Given the description of an element on the screen output the (x, y) to click on. 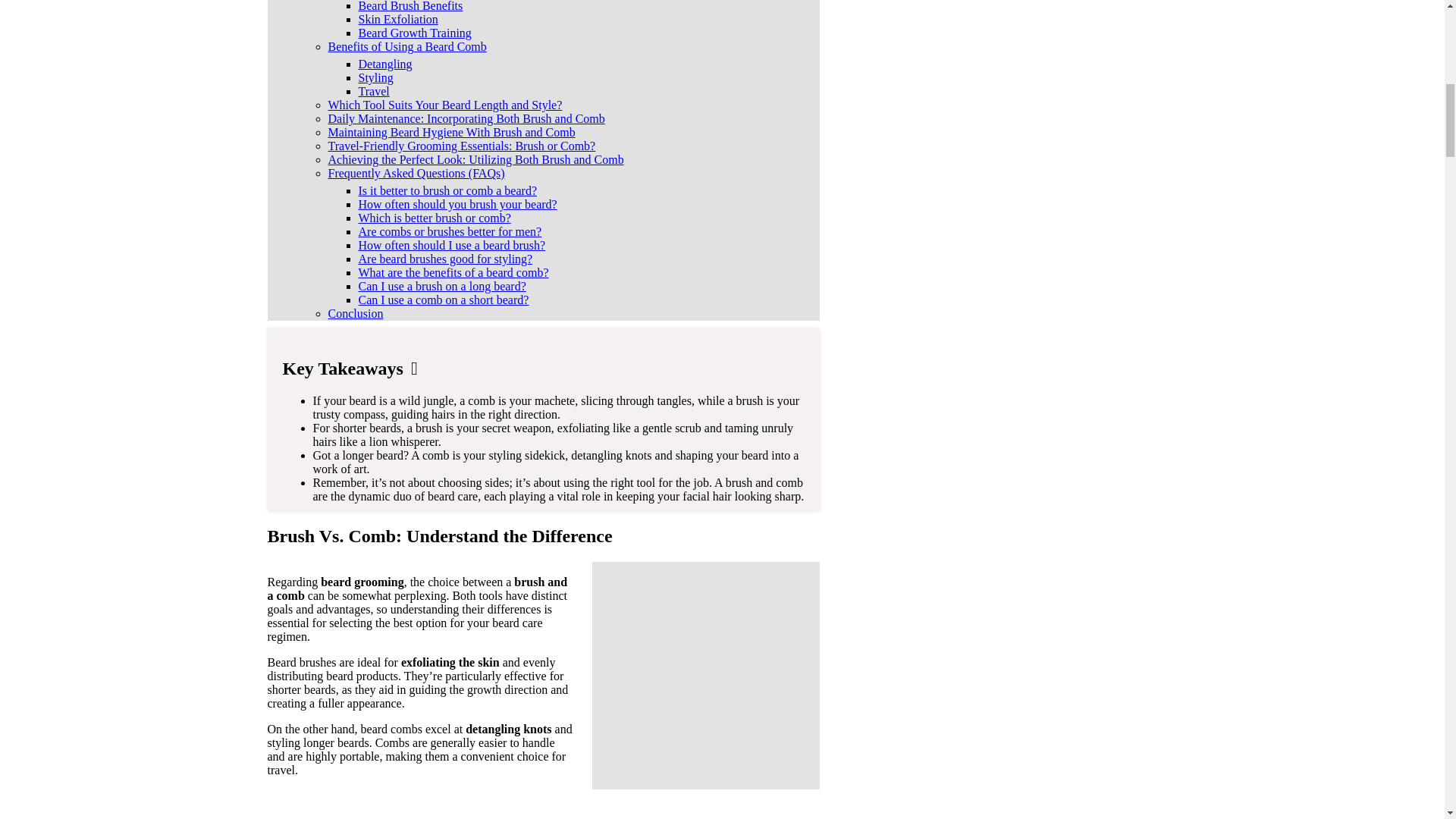
Skin Exfoliation (398, 19)
Beard Brush Benefits (410, 6)
Styling (375, 77)
Detangling (385, 63)
Benefits of Using a Beard Comb (406, 46)
Beard Growth Training (414, 32)
